Given the description of an element on the screen output the (x, y) to click on. 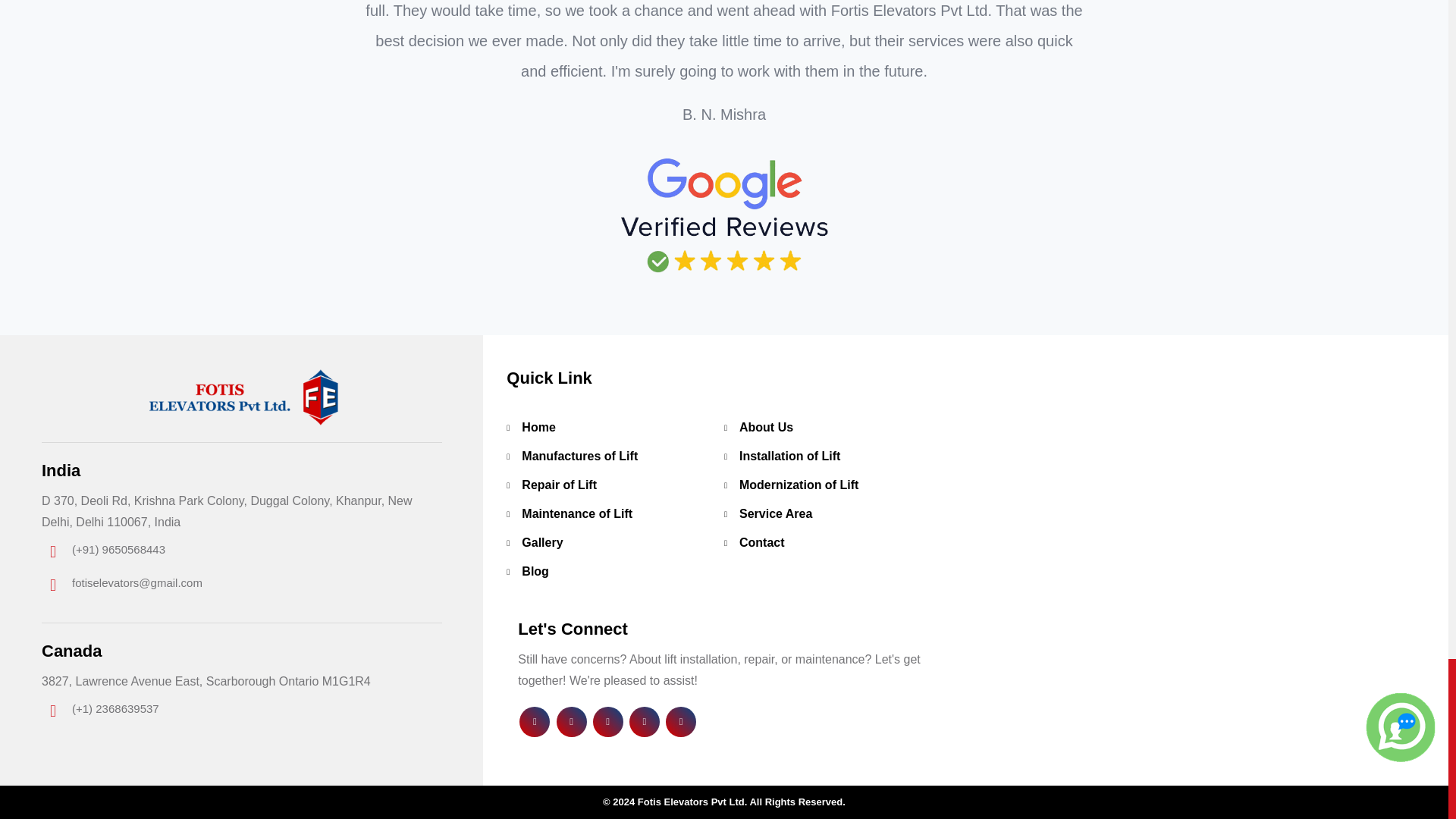
Blog (534, 571)
Installation of Lift (789, 455)
Manufactures of Lift (579, 455)
Home (537, 427)
Maintenance of Lift (576, 513)
Repair of Lift (558, 484)
Service Area (775, 513)
Gallery (541, 542)
Installation of Lift (789, 455)
Fotis Elevators Reviews on Google (723, 216)
